Given the description of an element on the screen output the (x, y) to click on. 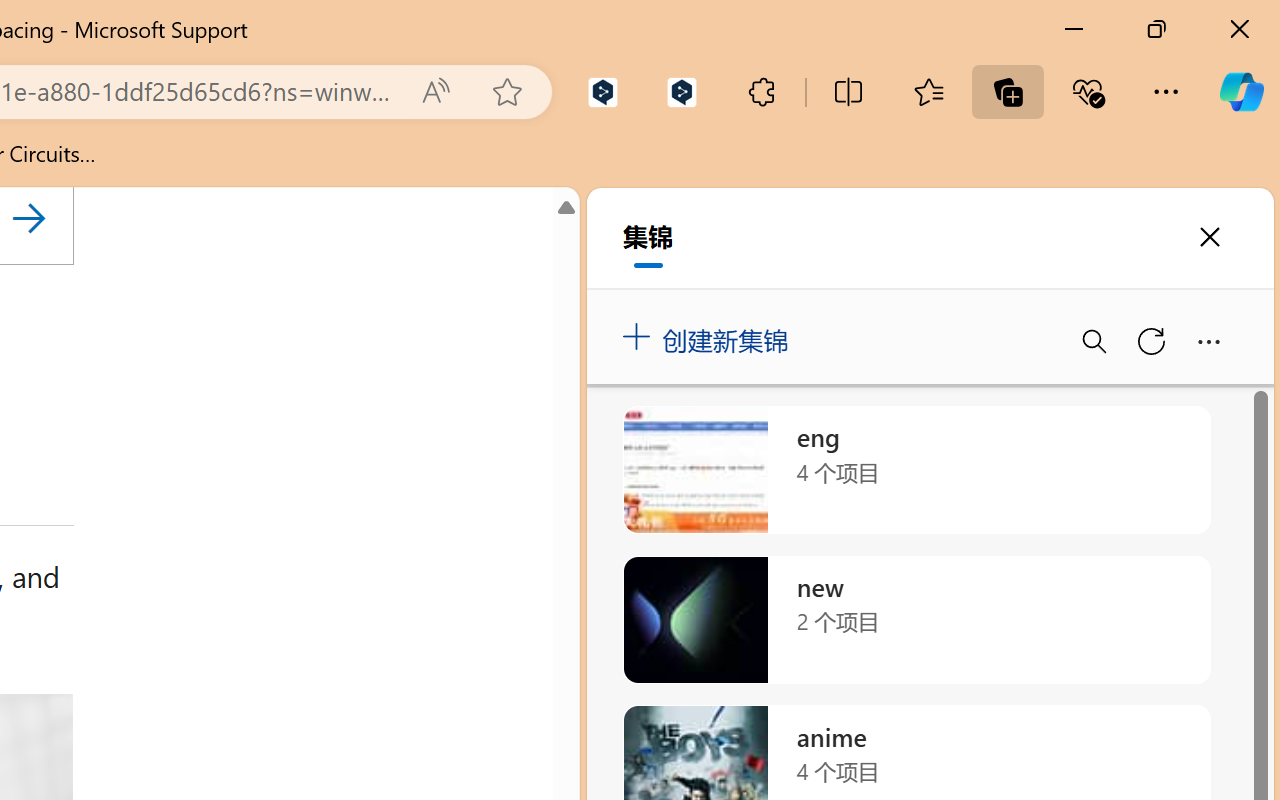
Copilot (Ctrl+Shift+.) (1241, 91)
